Given the description of an element on the screen output the (x, y) to click on. 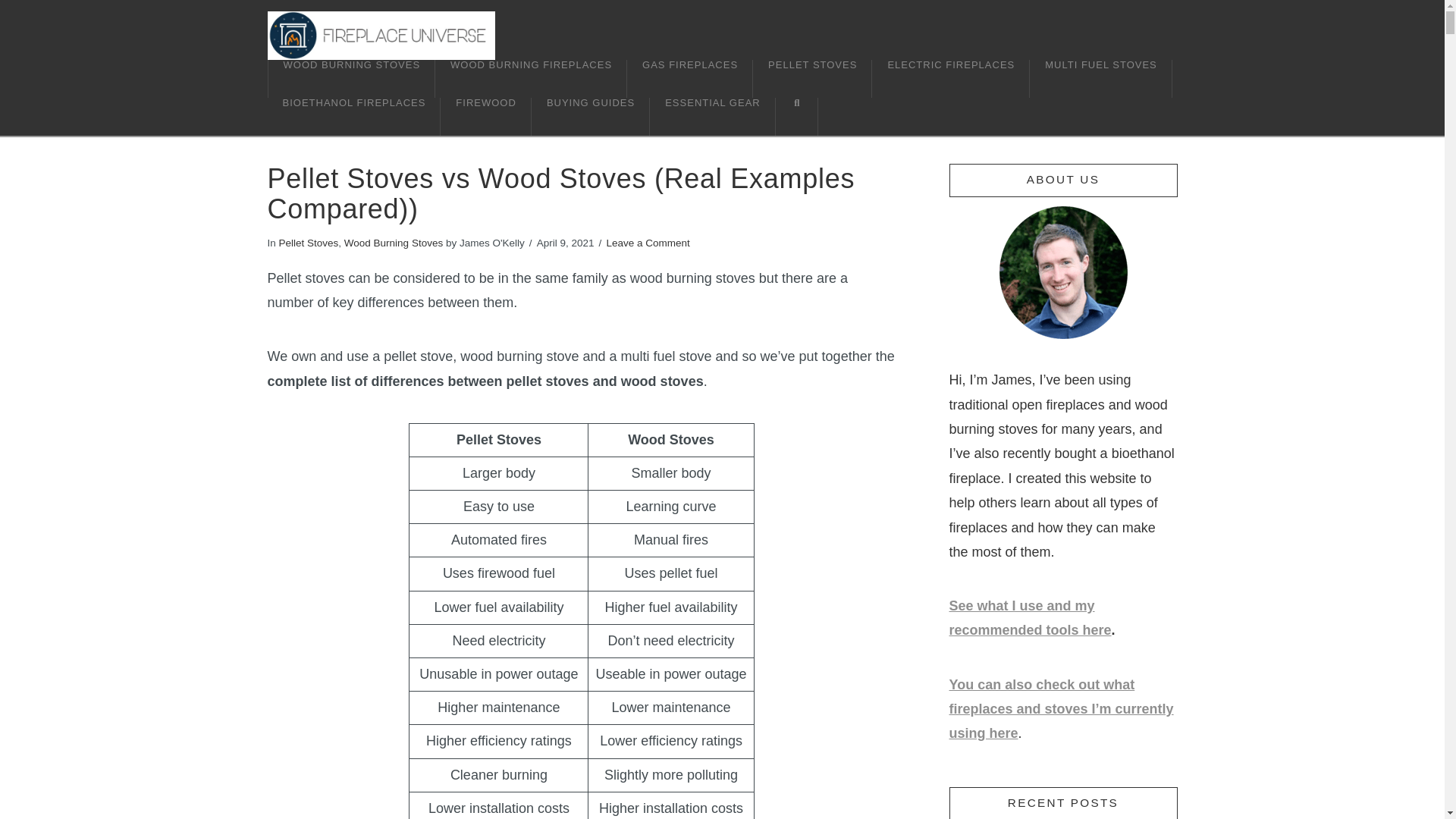
WOOD BURNING STOVES (350, 78)
Pellet Stoves (309, 242)
BUYING GUIDES (590, 116)
Wood Burning Stoves (392, 242)
ESSENTIAL GEAR (712, 116)
Leave a Comment (646, 242)
MULTI FUEL STOVES (1100, 78)
WOOD BURNING FIREPLACES (531, 78)
PELLET STOVES (812, 78)
GAS FIREPLACES (689, 78)
